Given the description of an element on the screen output the (x, y) to click on. 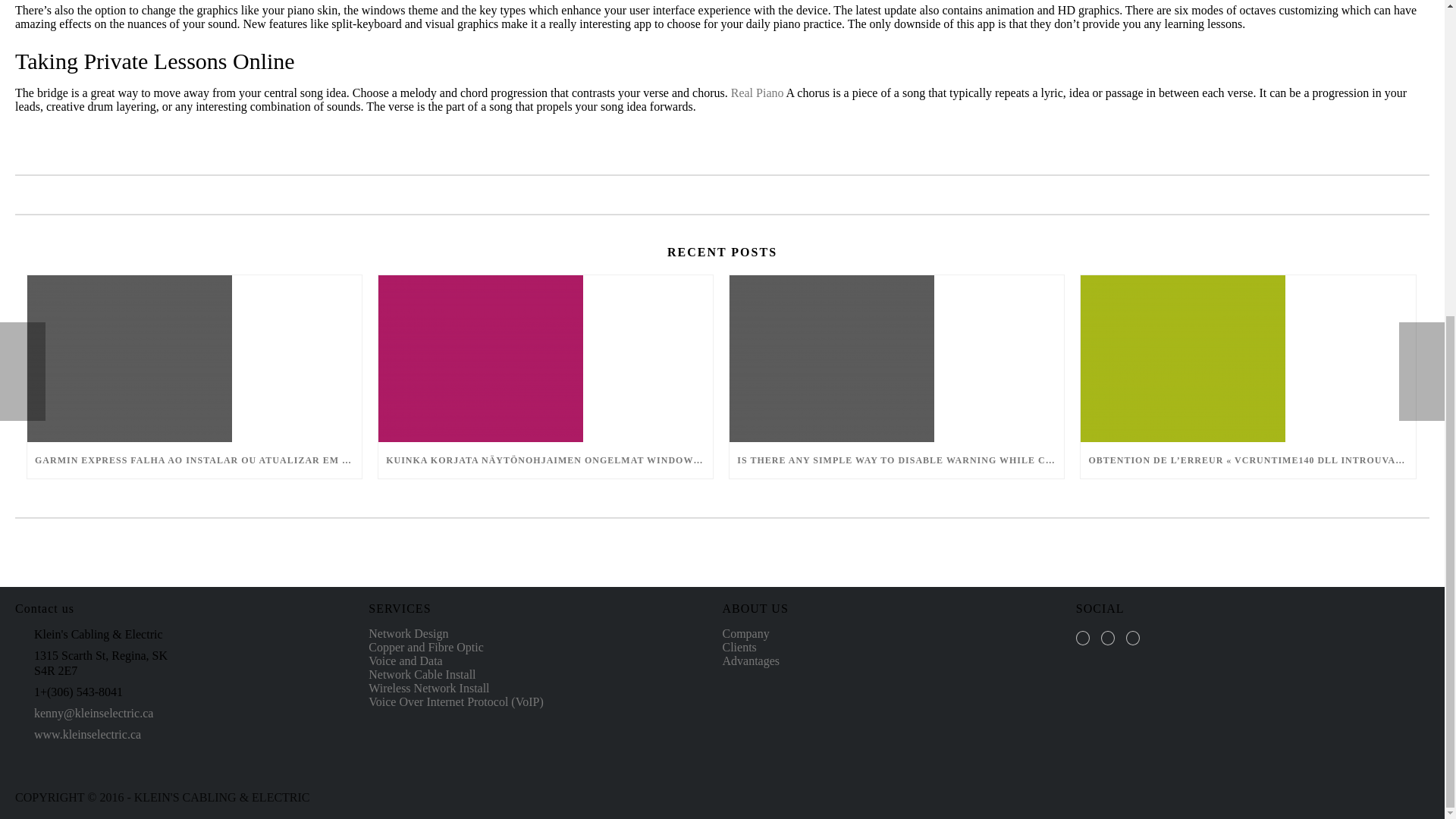
Real Piano (757, 92)
Wireless Network Install (428, 687)
 googleplus (1107, 637)
Copper and Fibre Optic (425, 646)
Clients (738, 646)
 facebook (1082, 637)
Advantages (750, 660)
Network Cable Install (422, 674)
 linkedin (1132, 637)
www.kleinselectric.ca (87, 735)
Voice and Data (405, 660)
